Given the description of an element on the screen output the (x, y) to click on. 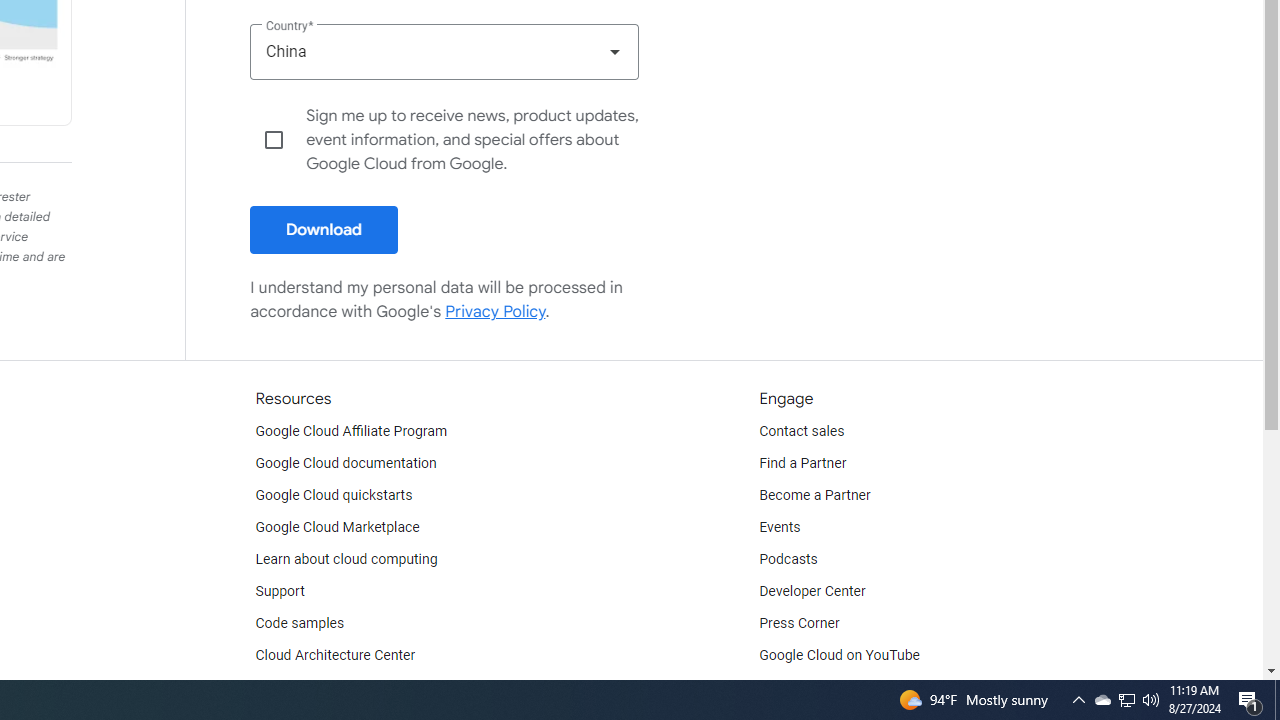
Press Corner (799, 623)
Country China (444, 51)
Developer Center (812, 591)
Google Cloud Tech on YouTube (856, 687)
Learn about cloud computing (345, 560)
Contact sales (801, 431)
Google Cloud on YouTube (839, 655)
Podcasts (788, 560)
Cloud Architecture Center (335, 655)
Google Cloud documentation (345, 463)
Become a Partner (814, 495)
Google Cloud Marketplace (336, 527)
Google Cloud quickstarts (333, 495)
